Given the description of an element on the screen output the (x, y) to click on. 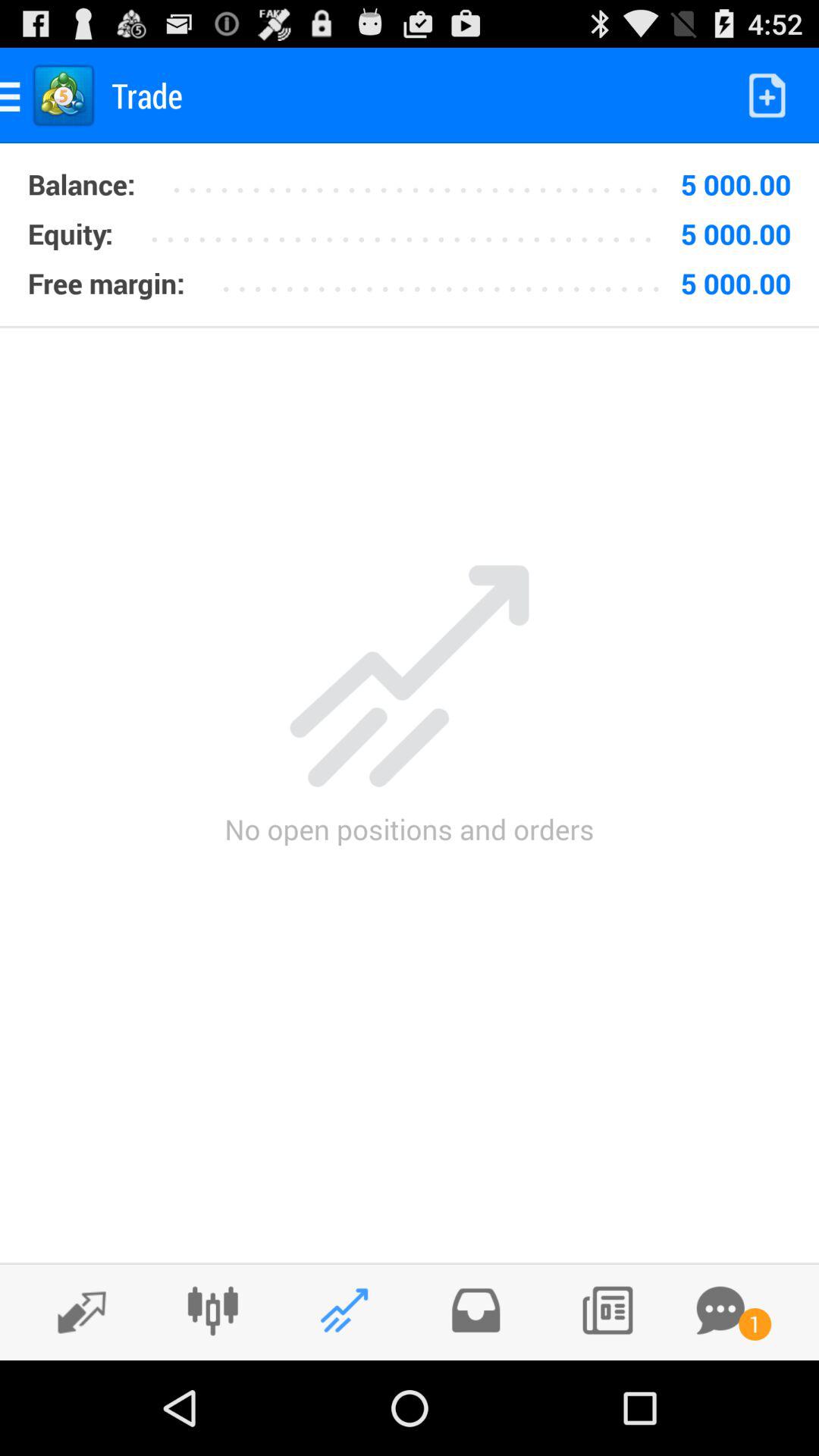
launch the icon next to the free margin: icon (446, 277)
